Given the description of an element on the screen output the (x, y) to click on. 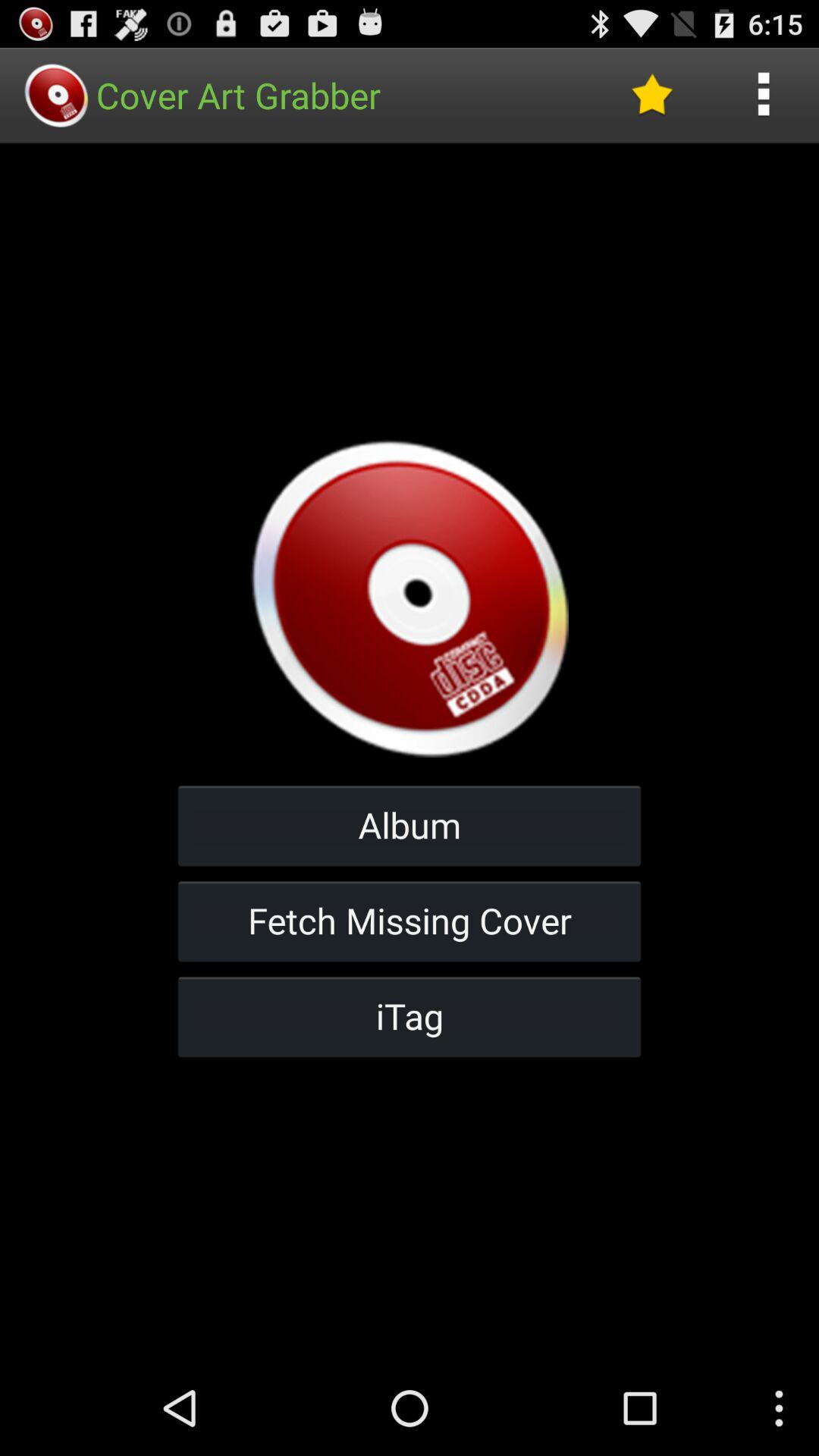
turn off the fetch missing cover button (409, 920)
